Given the description of an element on the screen output the (x, y) to click on. 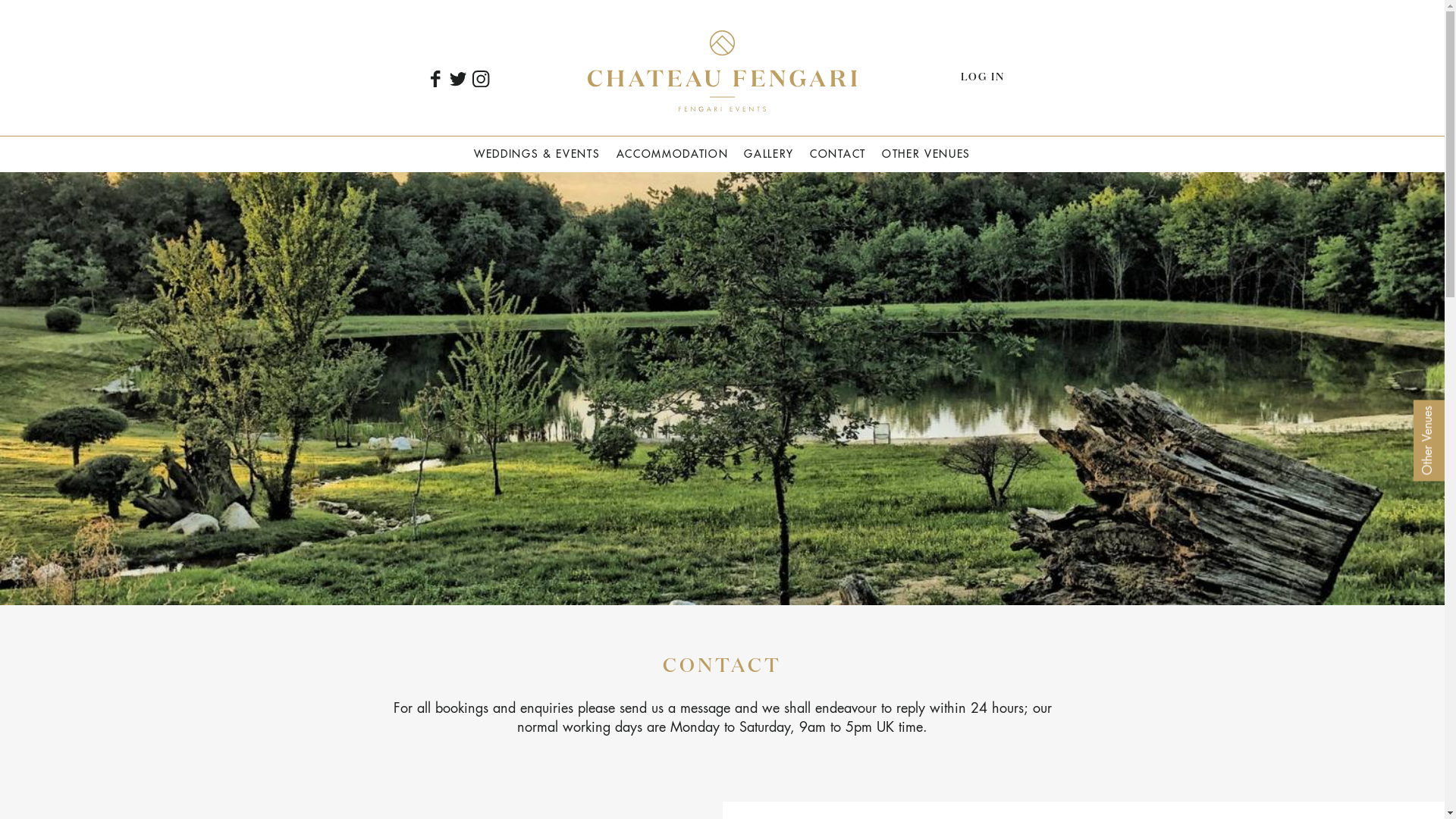
LOG IN (981, 77)
GALLERY (769, 153)
OTHER VENUES (925, 153)
CONTACT (838, 153)
ACCOMMODATION (672, 153)
